Given the description of an element on the screen output the (x, y) to click on. 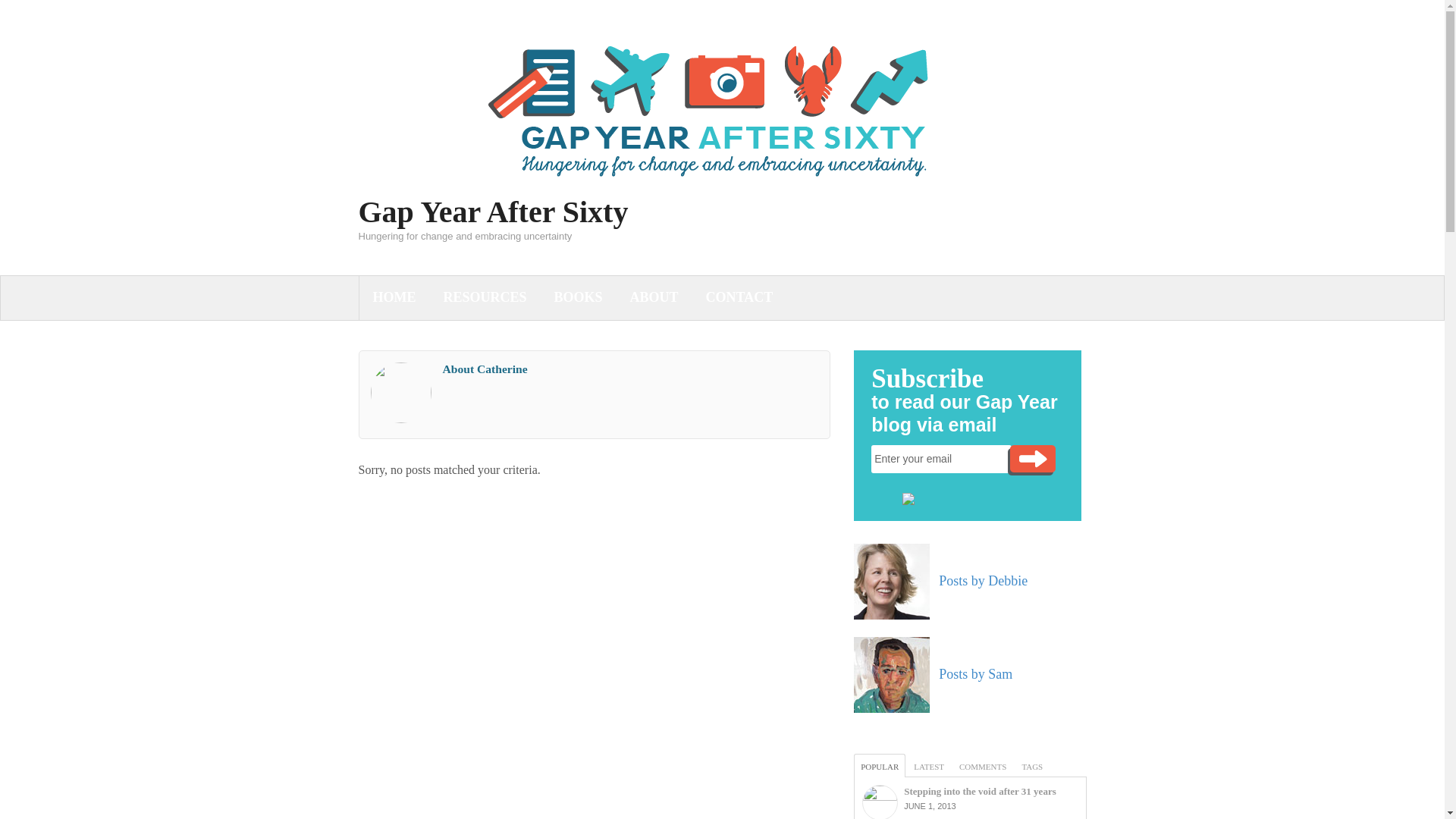
Enter your email (940, 459)
Stepping into the void after 31 years (879, 801)
POPULAR (879, 765)
Stepping into the void after 31 years (980, 790)
BOOKS (577, 298)
Hungering for change and embracing uncertainty (722, 188)
HOME (394, 298)
Posts by Sam (975, 673)
COMMENTS (982, 765)
RESOURCES (484, 298)
Gap Year After Sixty (492, 211)
Stepping into the void after 31 years (980, 790)
LATEST (928, 765)
TAGS (1031, 765)
ABOUT (654, 298)
